Given the description of an element on the screen output the (x, y) to click on. 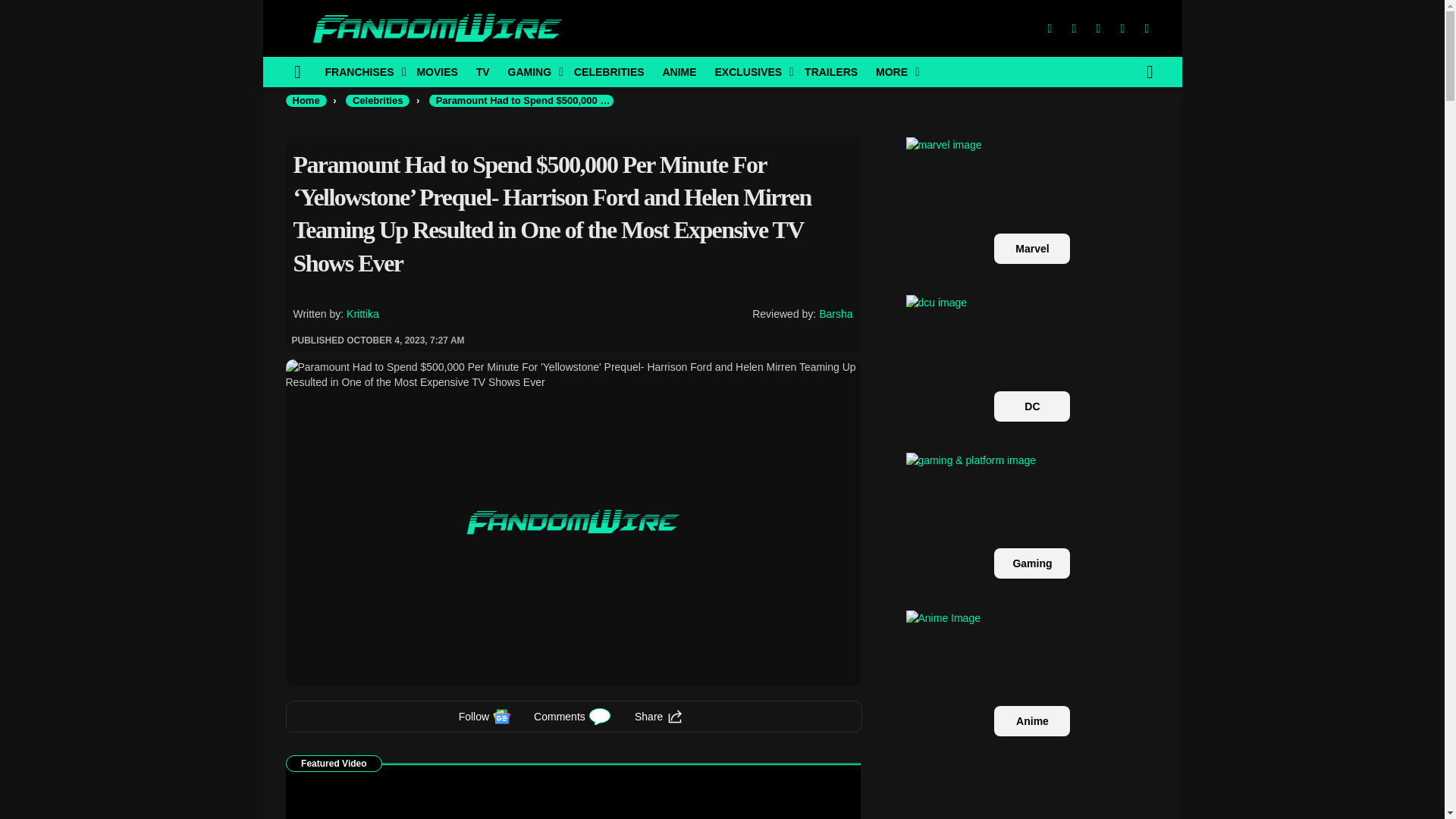
MORE (893, 71)
LinkedIn (1121, 28)
Insta (1097, 28)
CELEBRITIES (609, 71)
Facebook (1048, 28)
TV (482, 71)
MOVIES (436, 71)
GAMING (532, 71)
ANIME (678, 71)
TRAILERS (830, 71)
